Given the description of an element on the screen output the (x, y) to click on. 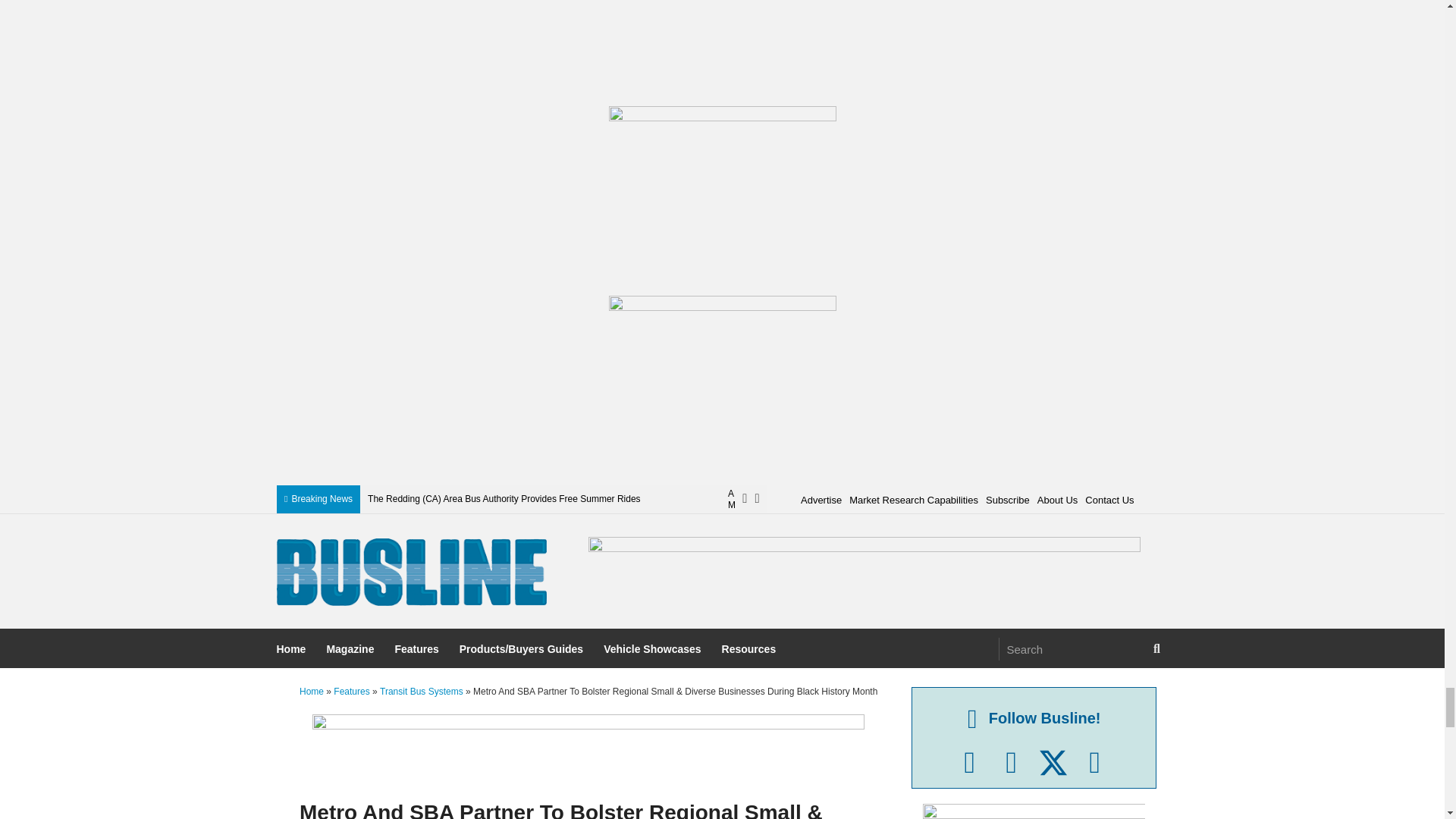
2023logo (411, 572)
Search (1071, 649)
YouTube (1094, 763)
LinkedIn (1010, 763)
Facebook (969, 763)
